Given the description of an element on the screen output the (x, y) to click on. 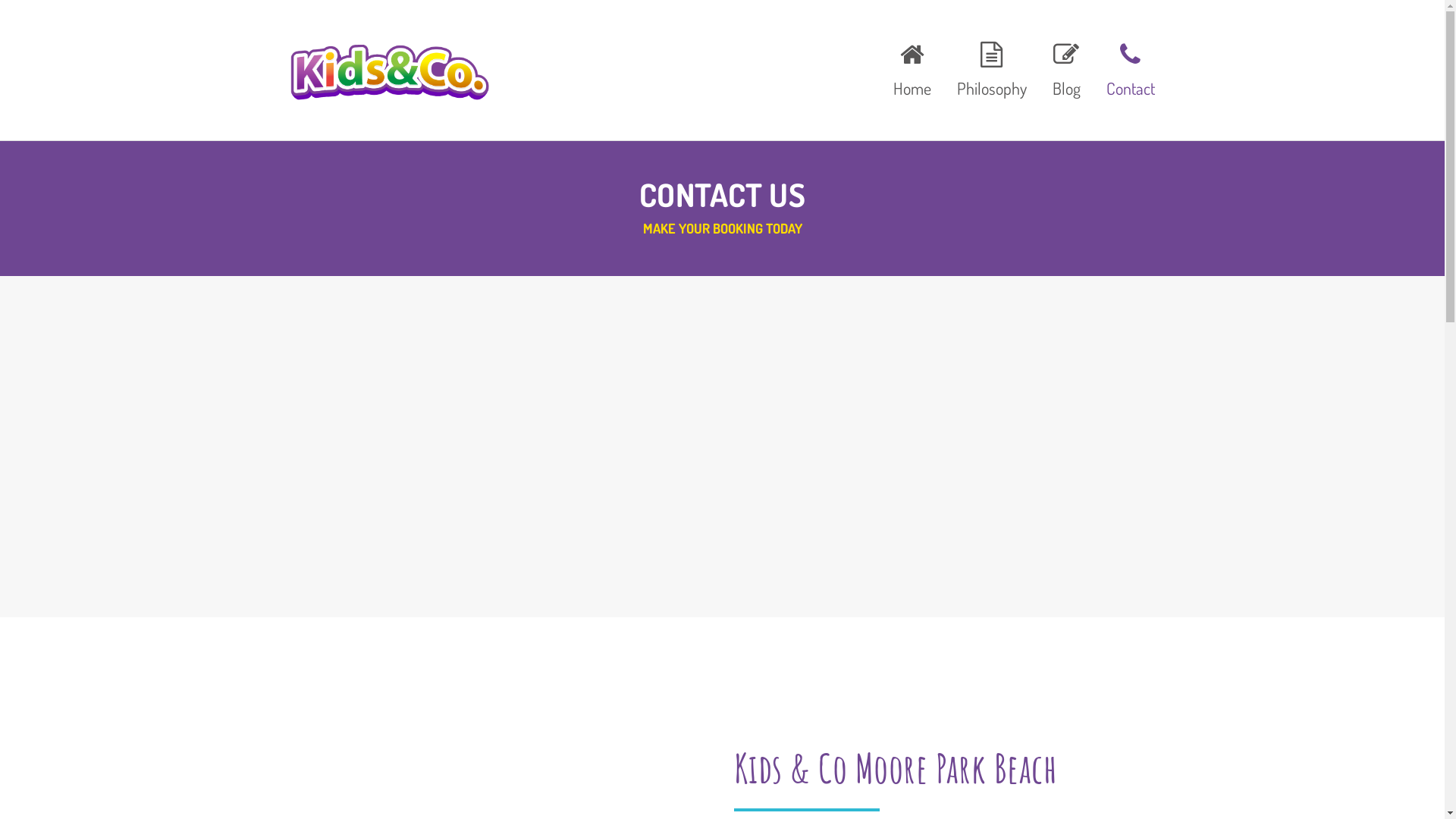
Contact Element type: text (1124, 66)
Philosophy Element type: text (990, 66)
Blog Element type: text (1065, 66)
Home Element type: text (911, 66)
